Given the description of an element on the screen output the (x, y) to click on. 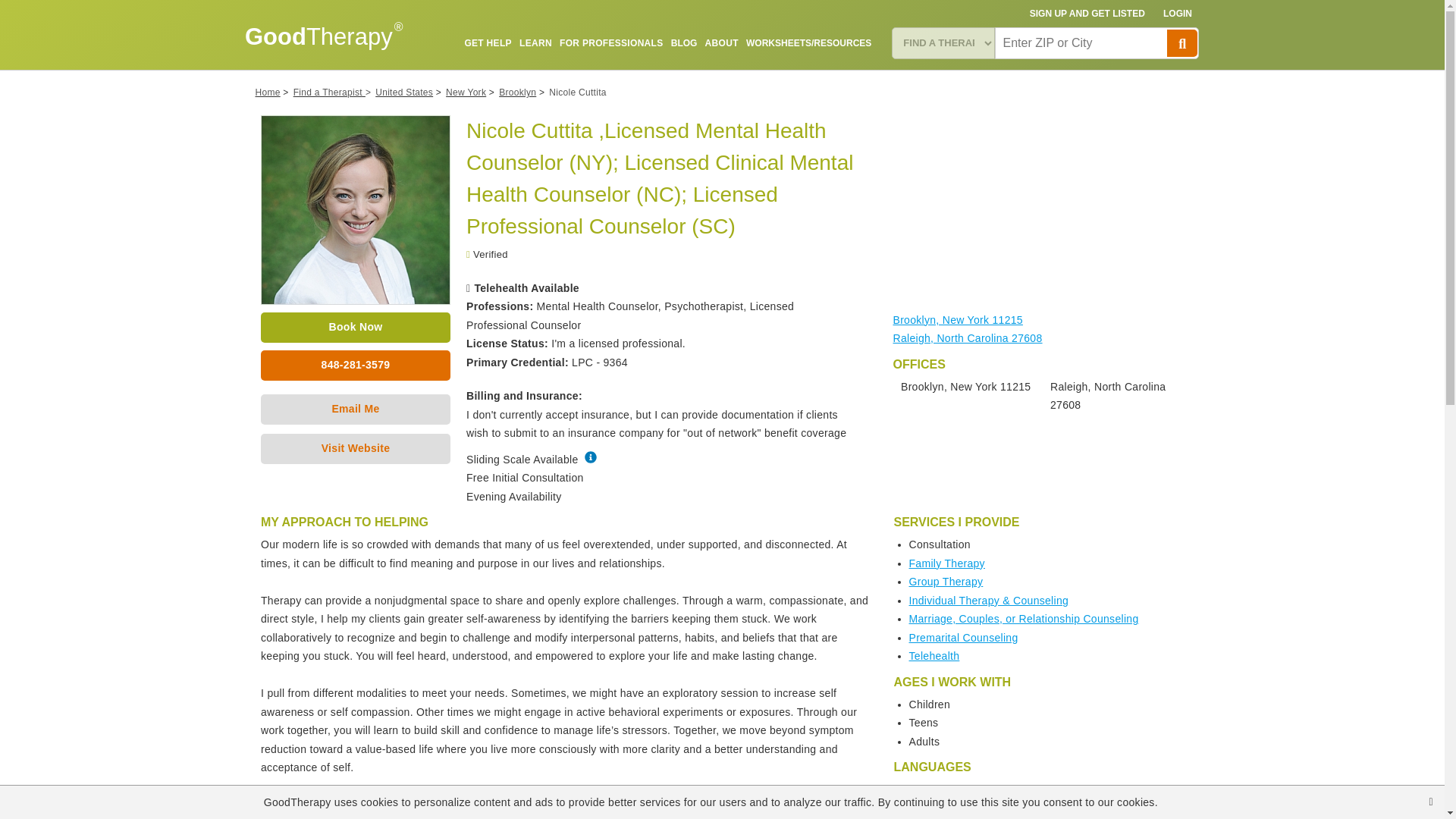
P (1181, 42)
LOGIN (1177, 13)
SIGN UP AND GET LISTED (1087, 13)
NEWSLETTER (840, 77)
BLOG (684, 42)
